Given the description of an element on the screen output the (x, y) to click on. 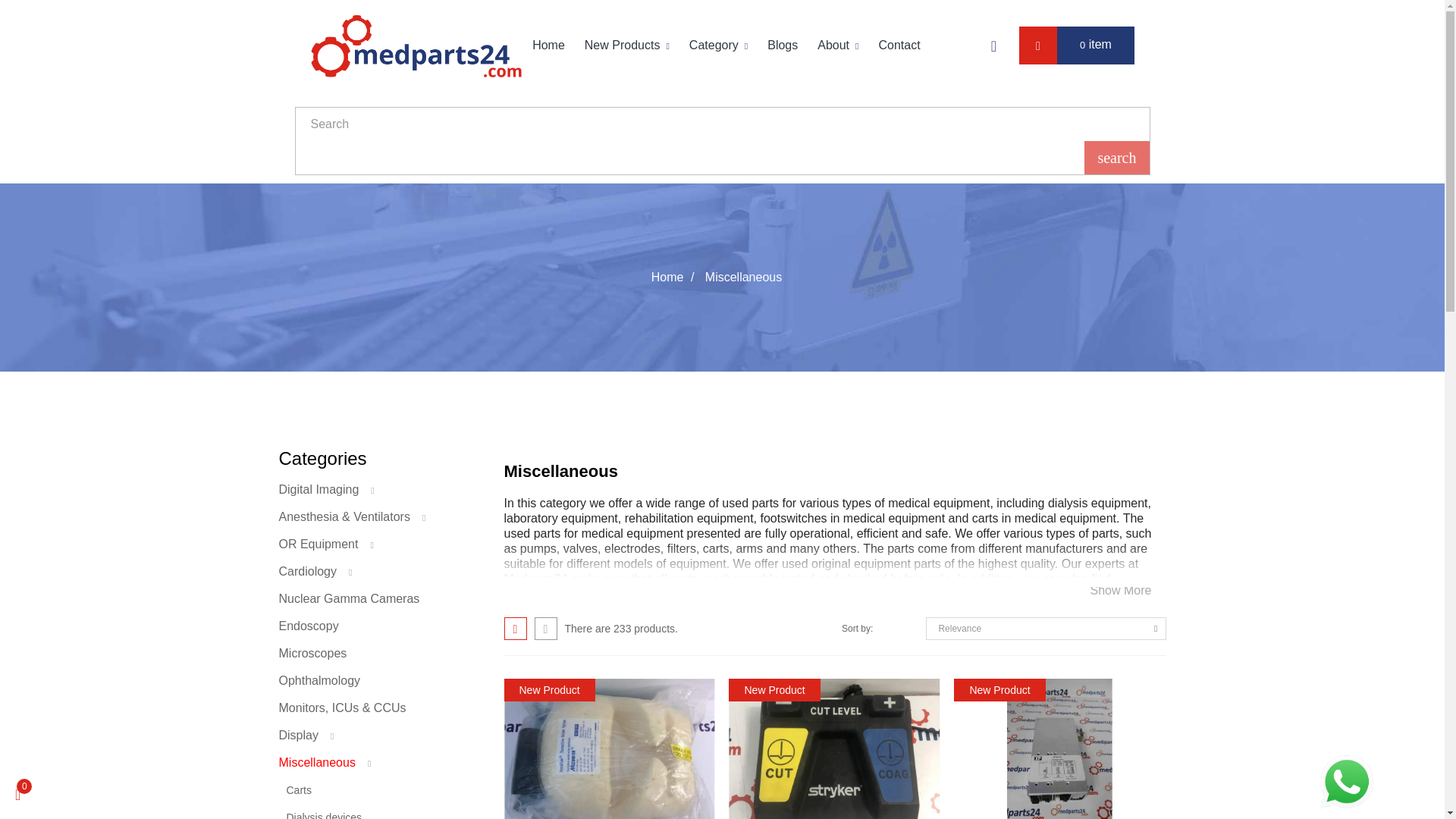
Category (718, 45)
Home (548, 45)
New Products (627, 45)
